Given the description of an element on the screen output the (x, y) to click on. 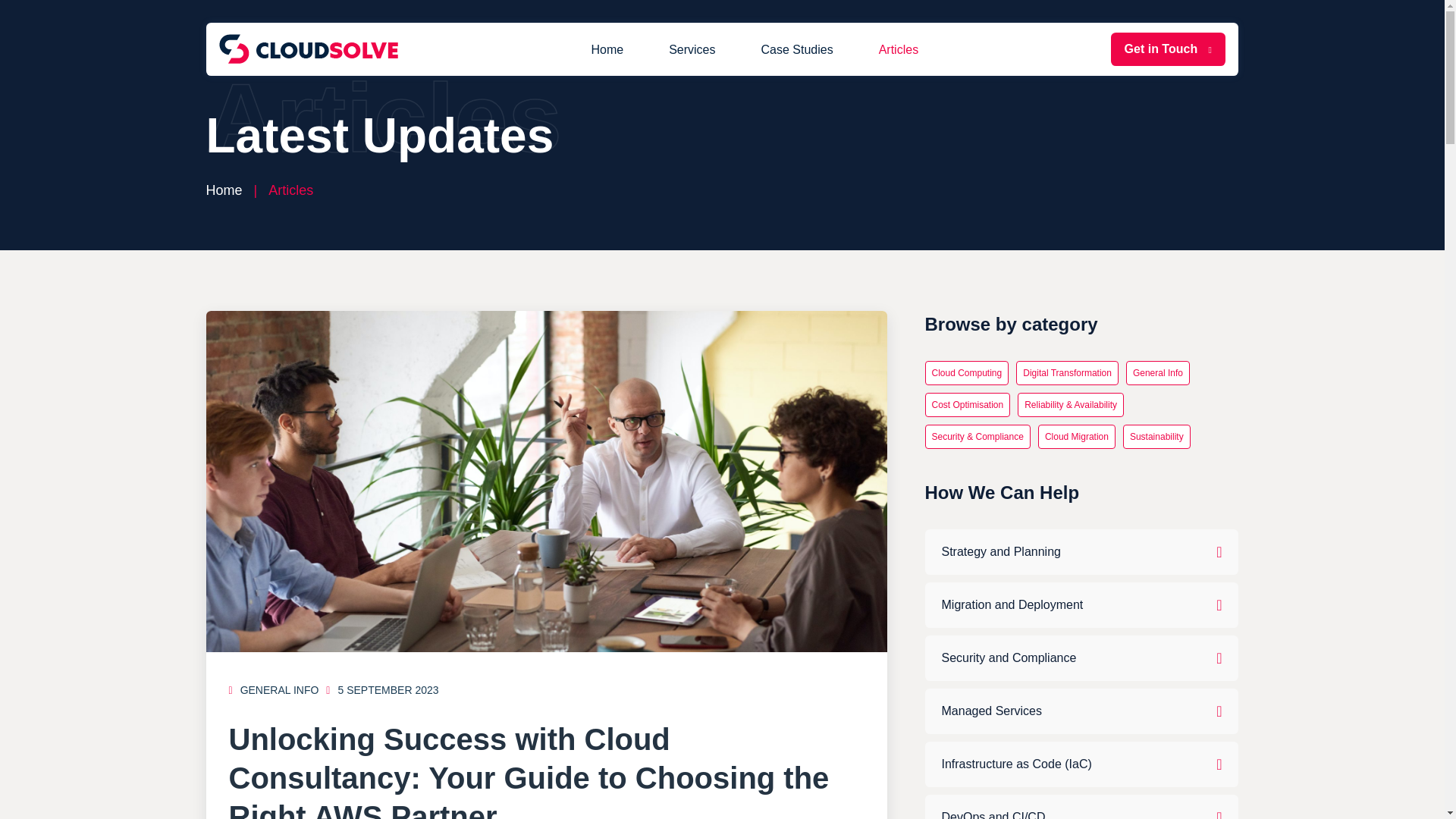
Cloud Migration (1076, 436)
Cost Optimisation (967, 404)
5 SEPTEMBER 2023 (382, 689)
Services (692, 48)
General Info (1157, 372)
Cloud Computing (966, 372)
Case Studies (797, 48)
Home (224, 190)
Digital Transformation (1067, 372)
Get in Touch (1167, 49)
Home (606, 48)
Articles (898, 48)
GENERAL INFO (279, 689)
